Given the description of an element on the screen output the (x, y) to click on. 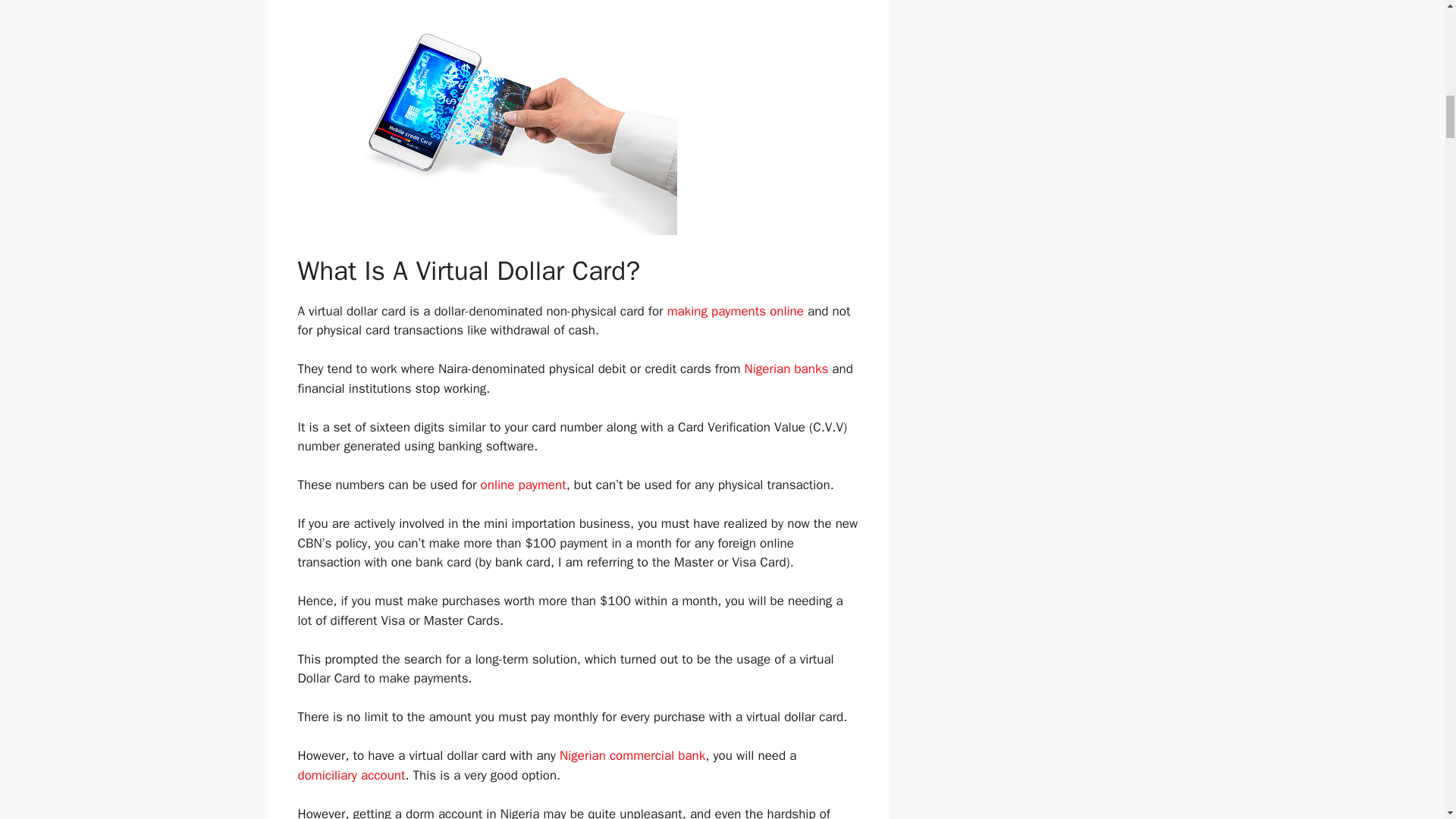
domiciliary account (350, 774)
Nigerian commercial bank (631, 755)
Nigerian banks (786, 368)
making payments online (734, 311)
online payment (523, 484)
